Given the description of an element on the screen output the (x, y) to click on. 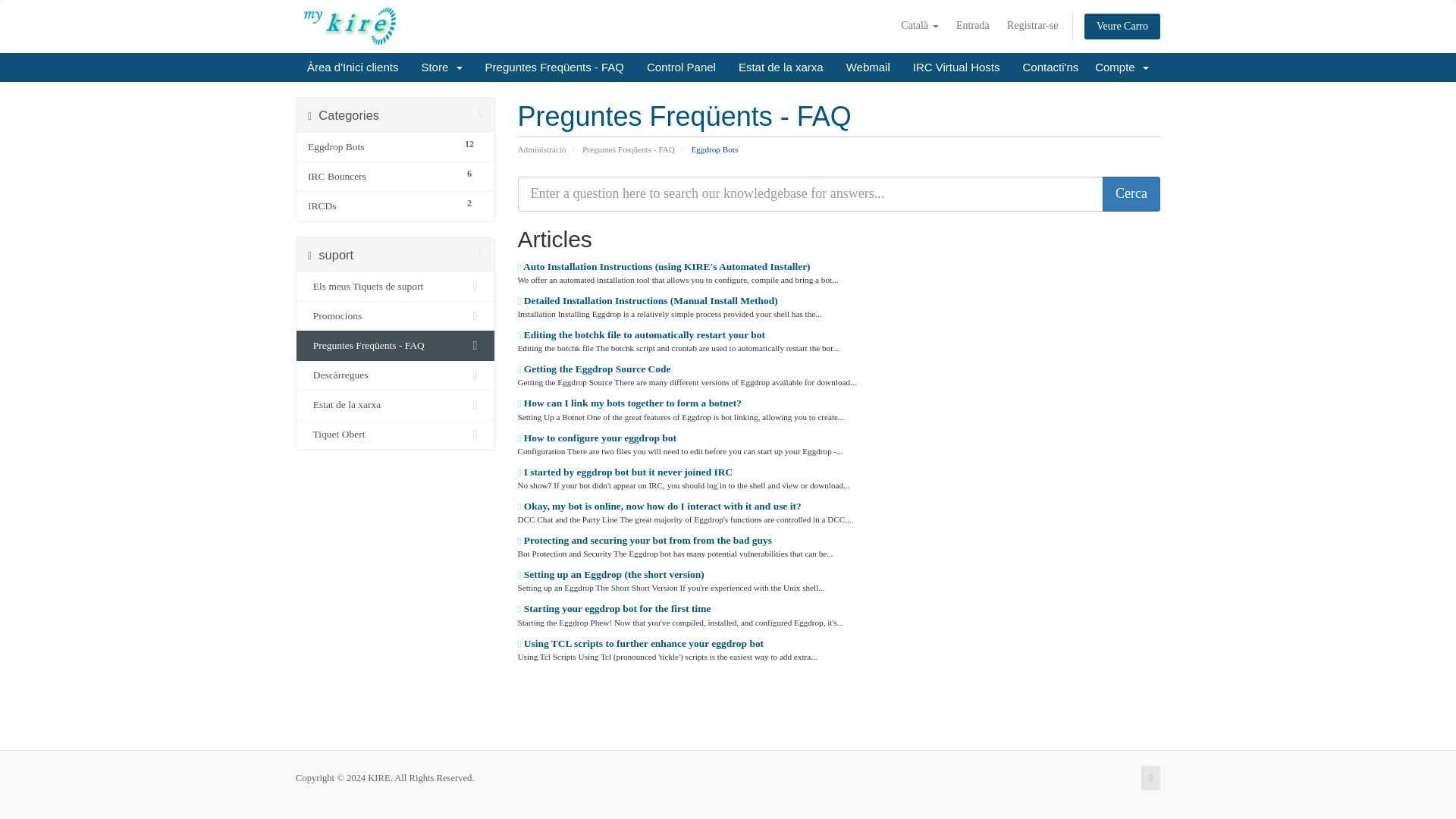
Entrada (973, 25)
IRCDs (381, 206)
Store   (441, 67)
Cerca (1131, 193)
IRC Bouncers (381, 176)
Registrar-se (1031, 25)
Veure Carro (1122, 26)
Eggdrop Bots (381, 147)
